Given the description of an element on the screen output the (x, y) to click on. 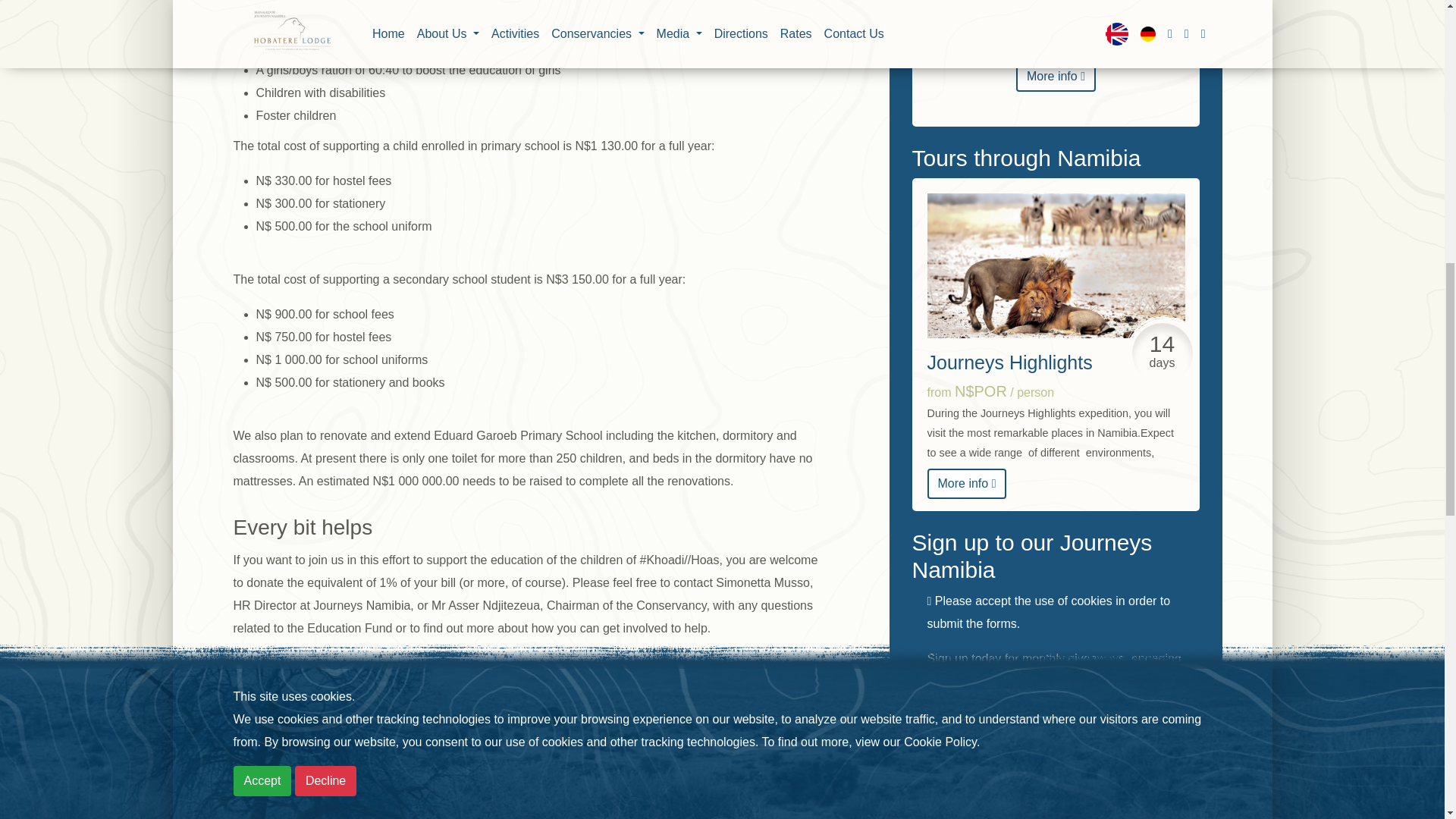
Journeys Highlights (1055, 265)
More info (1056, 76)
